Given the description of an element on the screen output the (x, y) to click on. 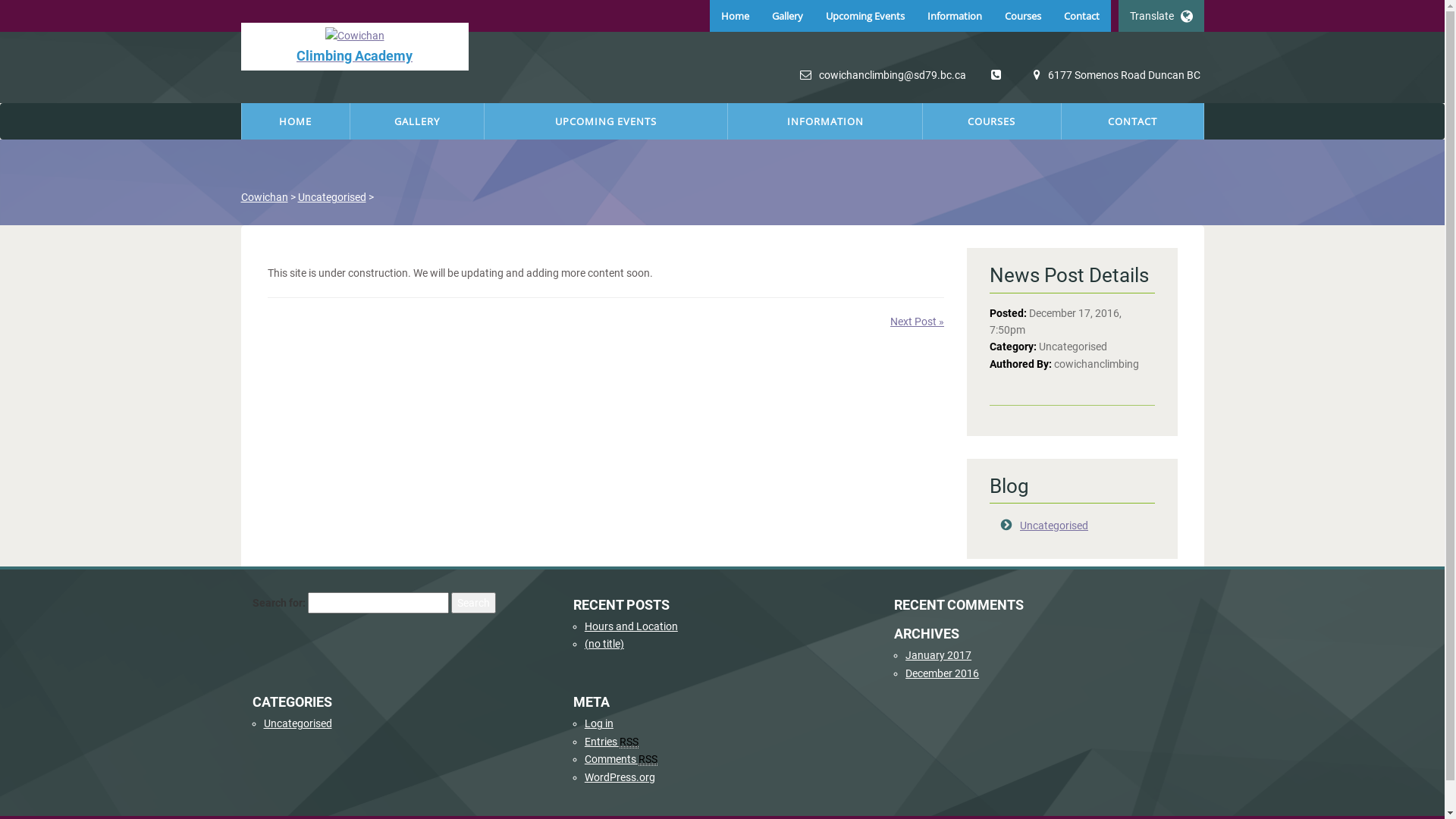
Home Element type: text (734, 15)
Translate   Element type: text (1160, 15)
Upcoming Events Element type: text (865, 15)
December 2016 Element type: text (942, 673)
Uncategorised Element type: text (331, 197)
GALLERY Element type: text (416, 121)
Search Element type: text (472, 602)
COURSES Element type: text (991, 121)
Hours and Location Element type: text (630, 626)
Uncategorised Element type: text (1053, 525)
Gallery Element type: text (786, 15)
WordPress.org Element type: text (619, 777)
Uncategorised Element type: text (297, 723)
CONTACT Element type: text (1132, 121)
INFORMATION Element type: text (825, 121)
Contact Element type: text (1081, 15)
Climbing Academy Element type: text (354, 46)
UPCOMING EVENTS Element type: text (605, 121)
Courses Element type: text (1022, 15)
HOME Element type: text (295, 121)
(no title) Element type: text (604, 643)
Entries RSS Element type: text (611, 741)
Log in Element type: text (598, 723)
January 2017 Element type: text (938, 655)
Cowichan Element type: text (264, 197)
Information Element type: text (954, 15)
Comments RSS Element type: text (620, 759)
